Given the description of an element on the screen output the (x, y) to click on. 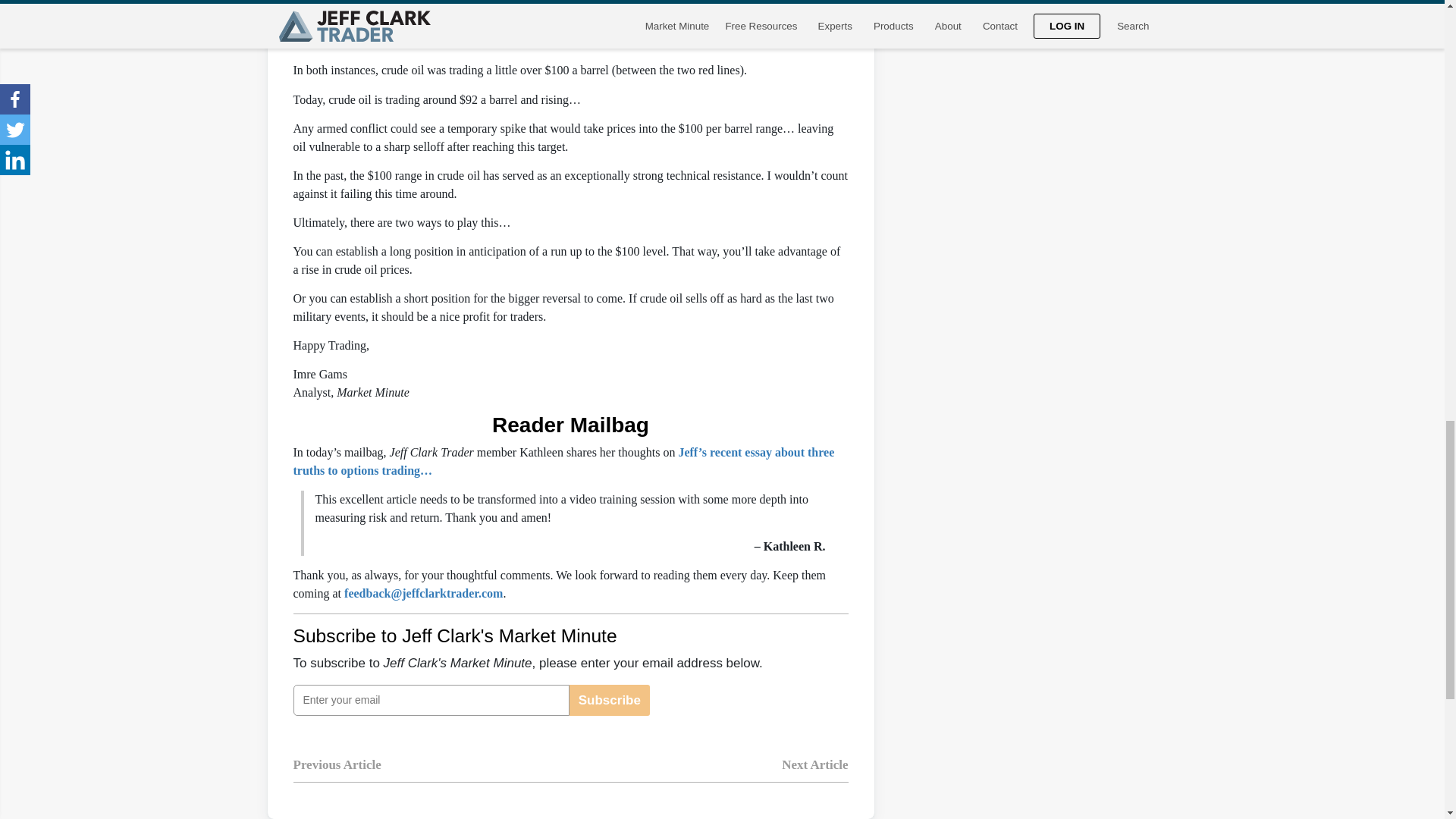
Next Article (814, 775)
Subscribe (609, 699)
Previous Article (336, 775)
Subscribe (609, 699)
